Given the description of an element on the screen output the (x, y) to click on. 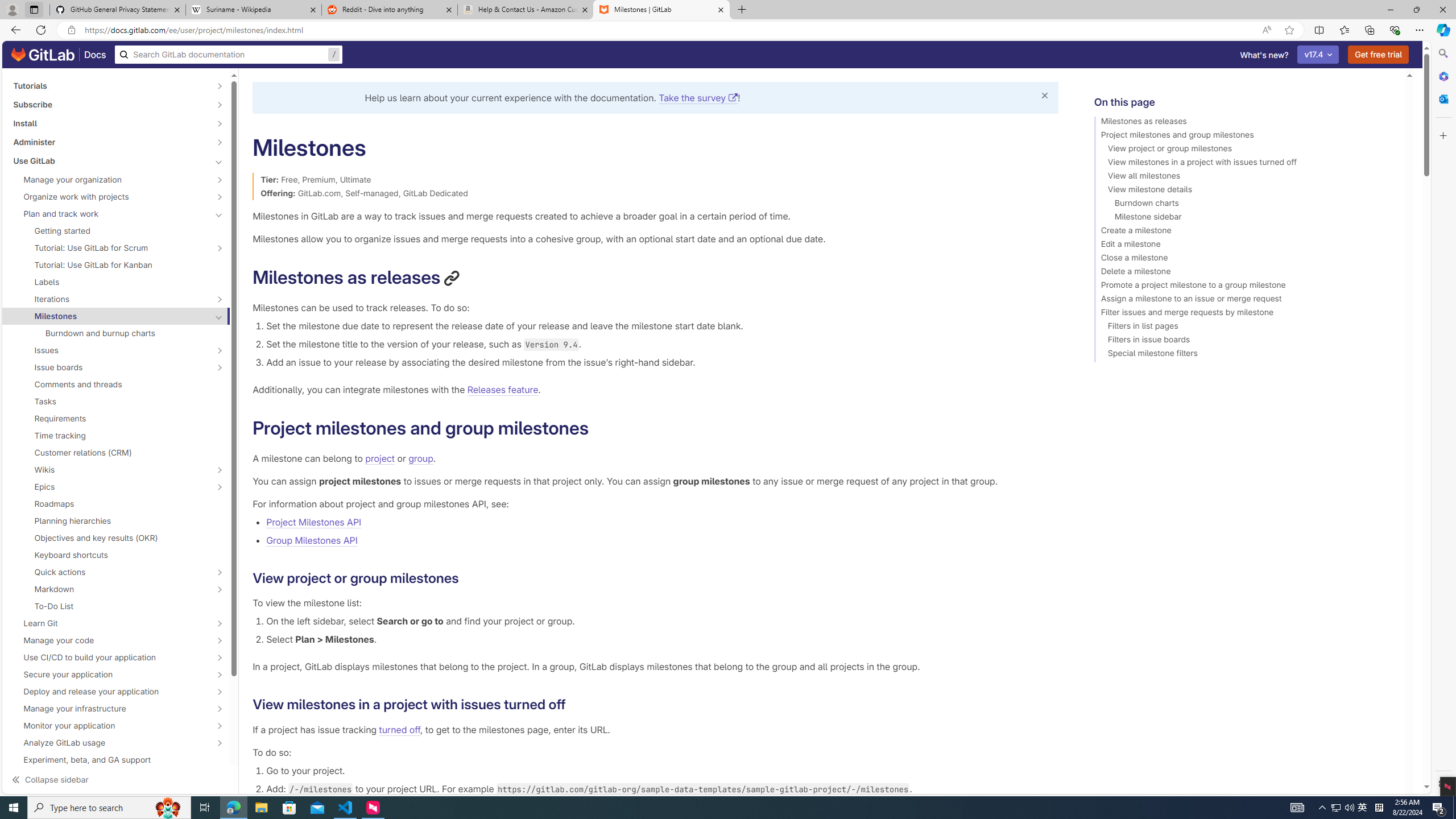
Special milestone filters (1244, 354)
Edit a milestone (1244, 246)
Assign a milestone to an issue or merge request (1244, 300)
Tutorial: Use GitLab for Scrum (109, 247)
Iterations (109, 298)
What's new? (1263, 54)
Tutorial: Use GitLab for Kanban (116, 264)
Milestone sidebar (1244, 218)
View project or group milestones (1244, 150)
Create a milestone (1244, 232)
